Given the description of an element on the screen output the (x, y) to click on. 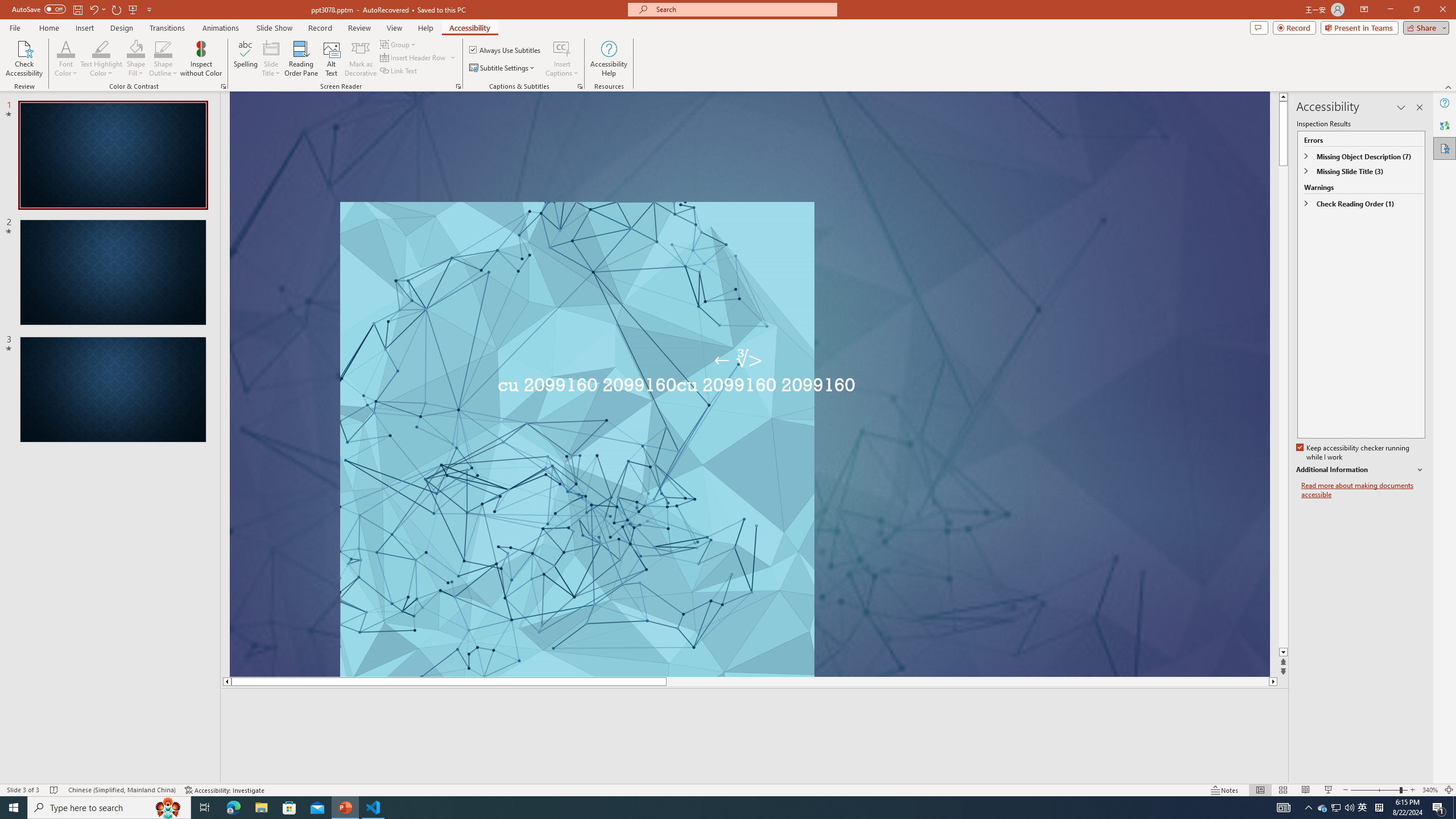
Mark as Decorative (360, 58)
Inspect without Color (201, 58)
Slide Title (271, 48)
